Given the description of an element on the screen output the (x, y) to click on. 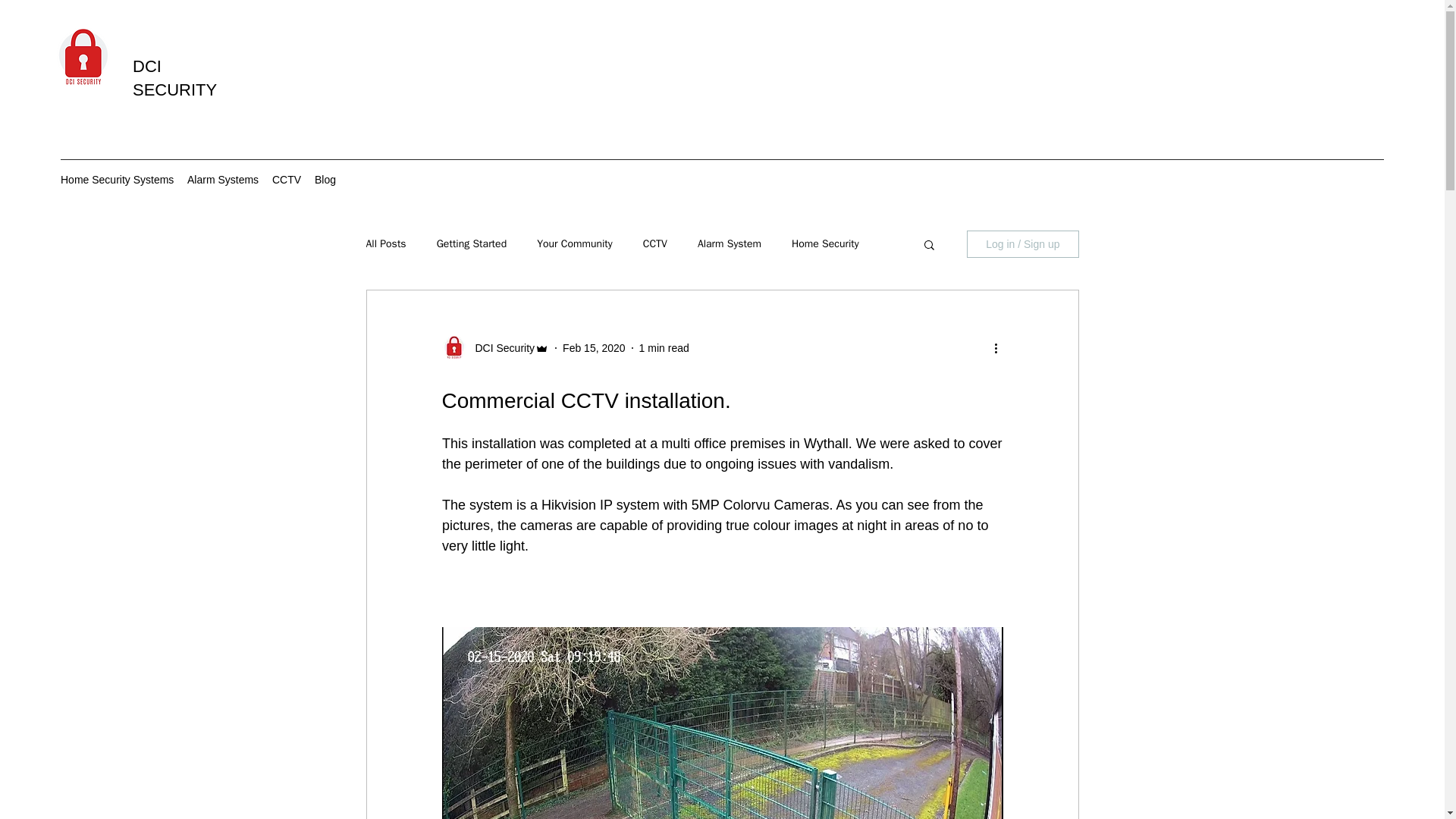
Your Community (574, 243)
Alarm Systems (221, 179)
All Posts (385, 243)
DCI Security (499, 347)
Feb 15, 2020 (594, 346)
Home Security (825, 243)
CCTV (285, 179)
Getting Started (471, 243)
Home Security Systems (115, 179)
1 min read (663, 346)
DCI SECURITY (174, 77)
Alarm System (729, 243)
CCTV (654, 243)
Blog (325, 179)
